Given the description of an element on the screen output the (x, y) to click on. 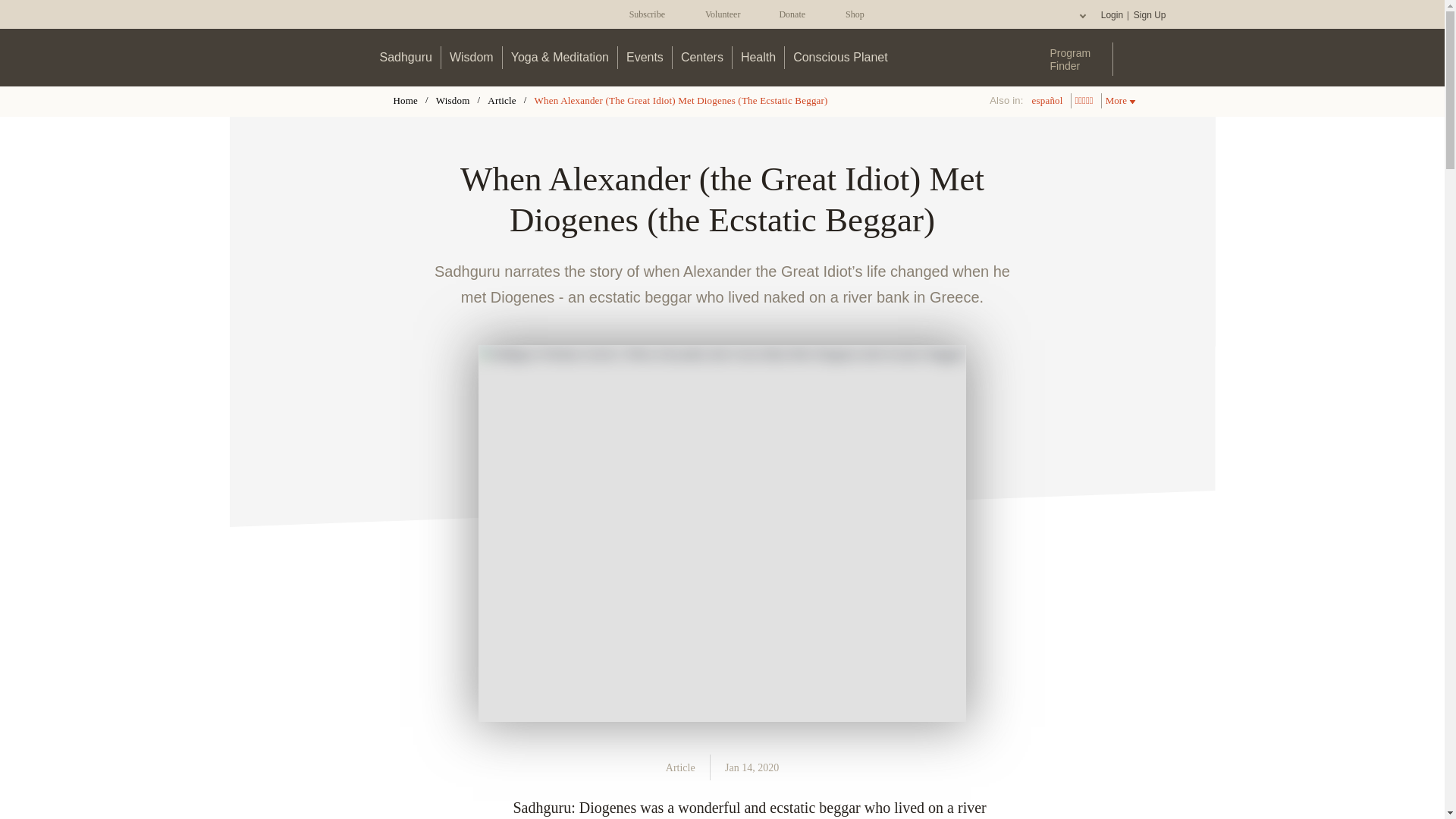
Login (1112, 15)
Wisdom (471, 56)
Sign Up (1149, 15)
Sadhguru (406, 56)
